Given the description of an element on the screen output the (x, y) to click on. 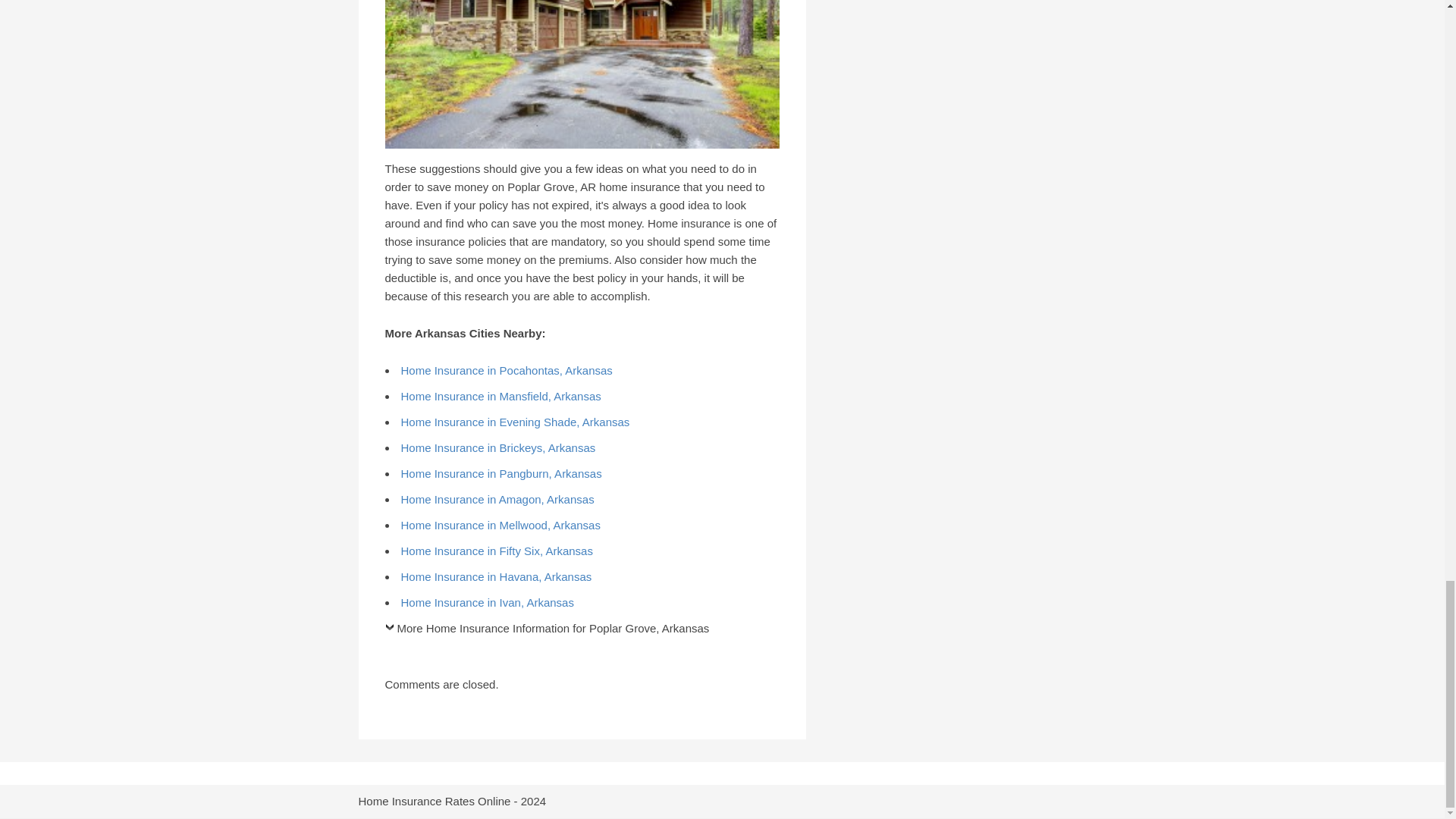
Home Insurance in Mellwood, Arkansas (499, 524)
Home Insurance in Fifty Six, Arkansas (496, 550)
Home Insurance in Mansfield, Arkansas (499, 395)
Home Insurance in Mellwood, Arkansas (499, 524)
Home Insurance in Havana, Arkansas (495, 576)
Home Insurance in Pangburn, Arkansas (500, 472)
Home Insurance in Mansfield, Arkansas (499, 395)
Home Insurance in Ivan, Arkansas (486, 602)
Home Insurance in Brickeys, Arkansas (497, 447)
Home Insurance in Amagon, Arkansas (497, 499)
Home Insurance in Pangburn, Arkansas (500, 472)
Home Insurance in Pocahontas, Arkansas (505, 369)
Home Insurance in Pocahontas, Arkansas (505, 369)
Home Insurance in Fifty Six, Arkansas (496, 550)
Home Insurance in Evening Shade, Arkansas (514, 421)
